Given the description of an element on the screen output the (x, y) to click on. 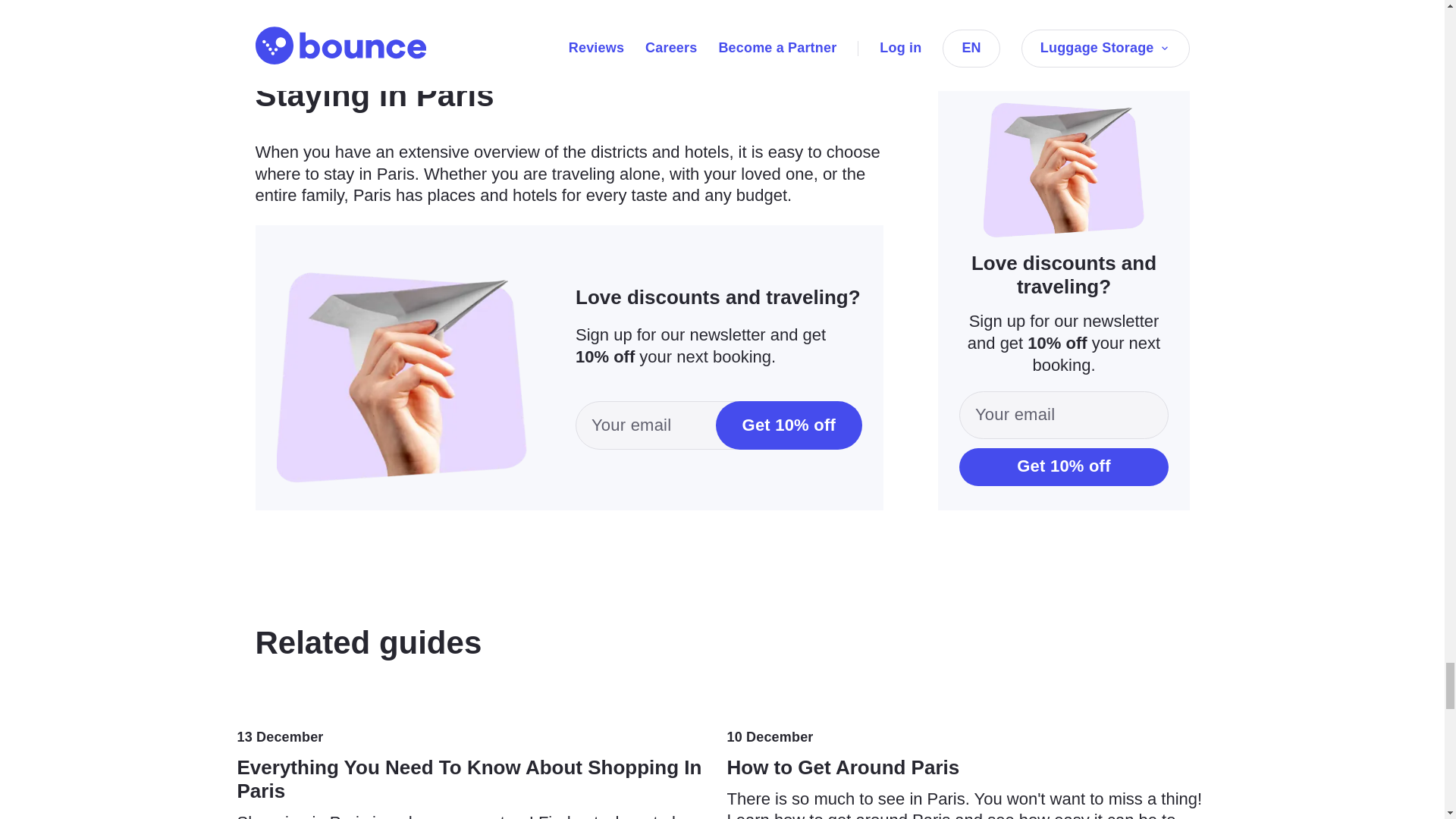
How to Get Around Paris (970, 770)
Everything You Need To Know About Shopping In Paris (480, 770)
